Given the description of an element on the screen output the (x, y) to click on. 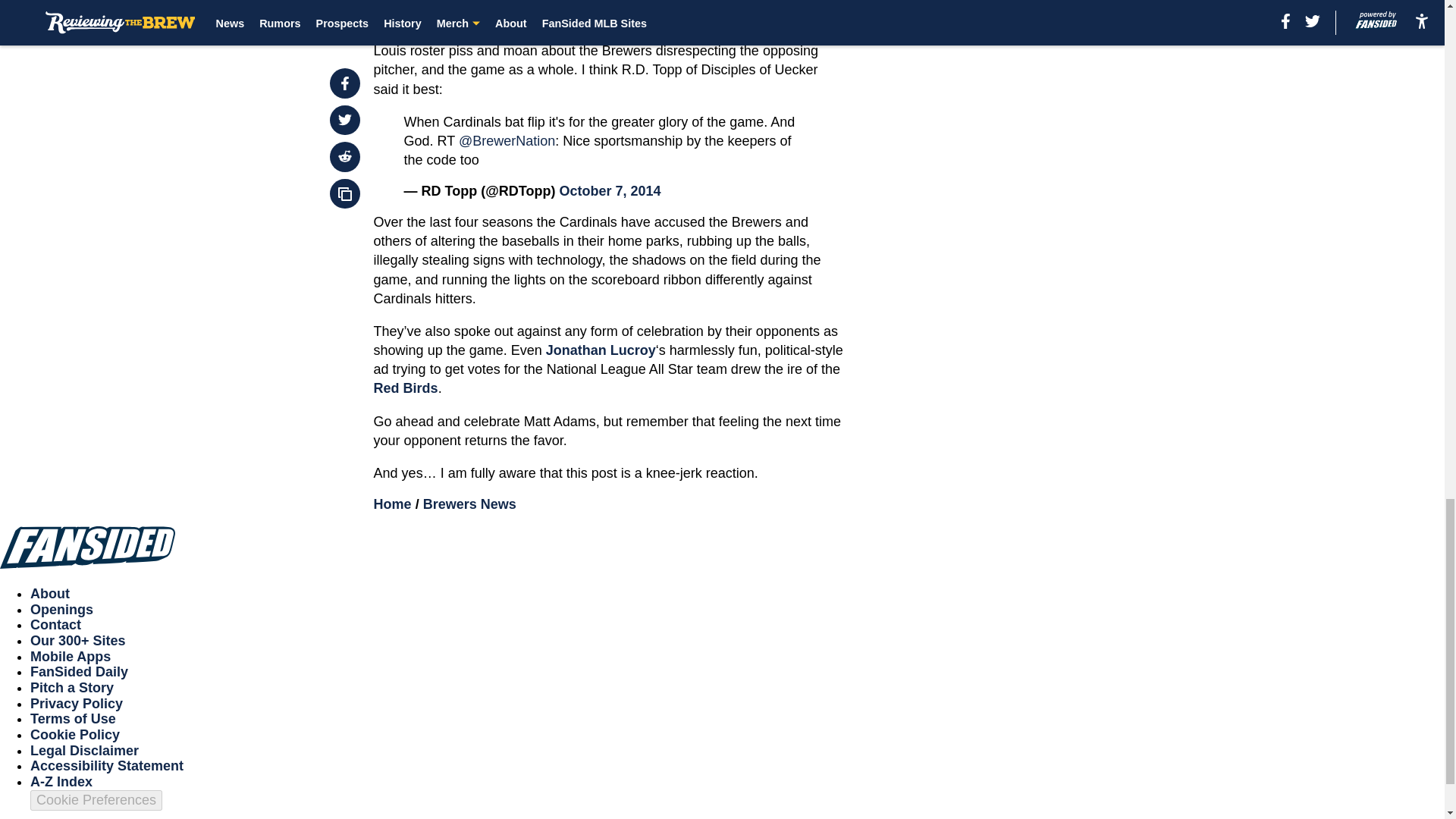
Jonathan Lucroy (601, 350)
Carlos Gomez (526, 31)
October 7, 2014 (610, 191)
